Given the description of an element on the screen output the (x, y) to click on. 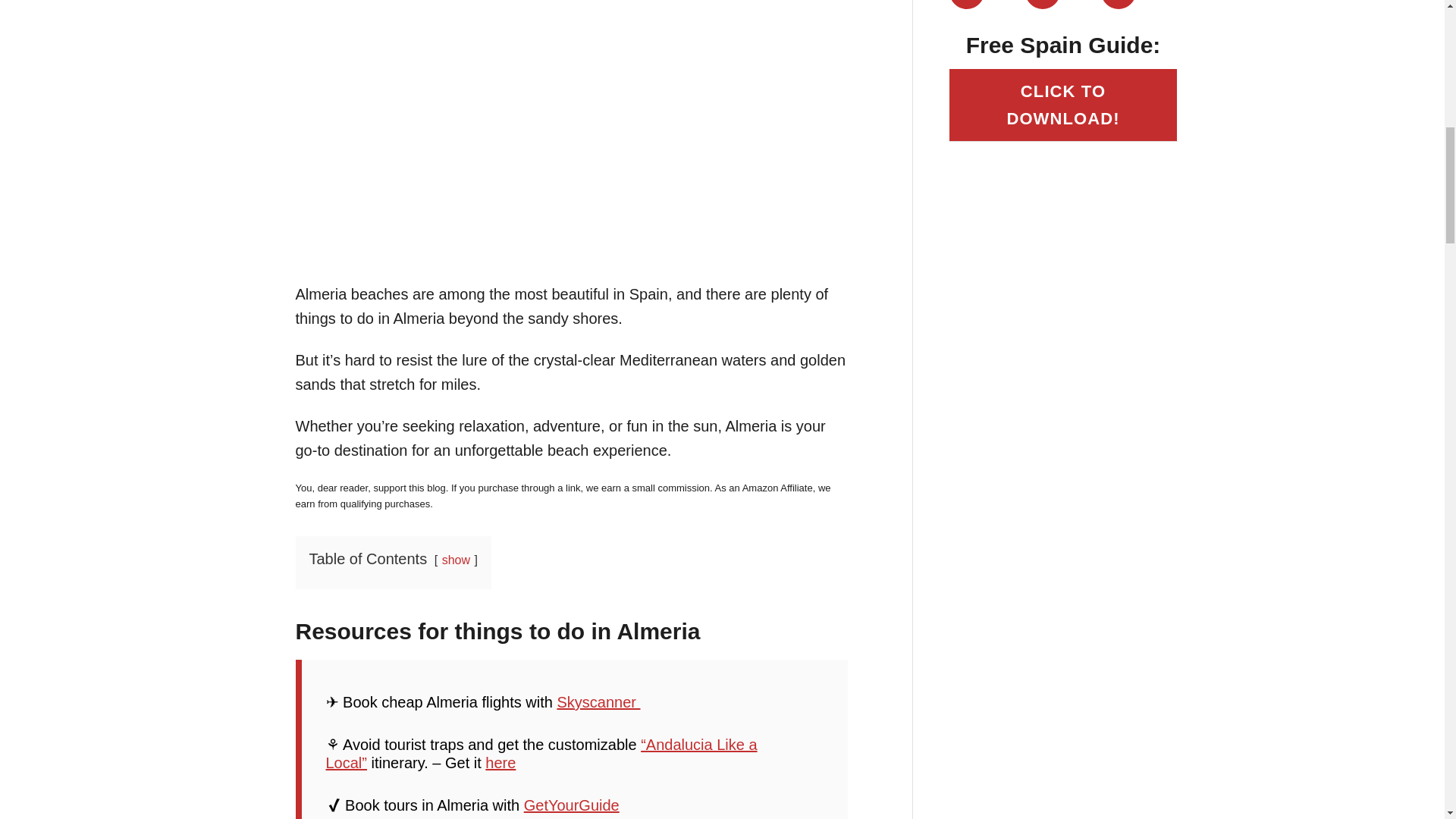
here (499, 762)
show (456, 559)
GetYourGuide (572, 805)
Follow on Pinterest (1117, 4)
Follow on Facebook (1042, 4)
Follow on Instagram (966, 4)
Skyscanner  (598, 701)
